Given the description of an element on the screen output the (x, y) to click on. 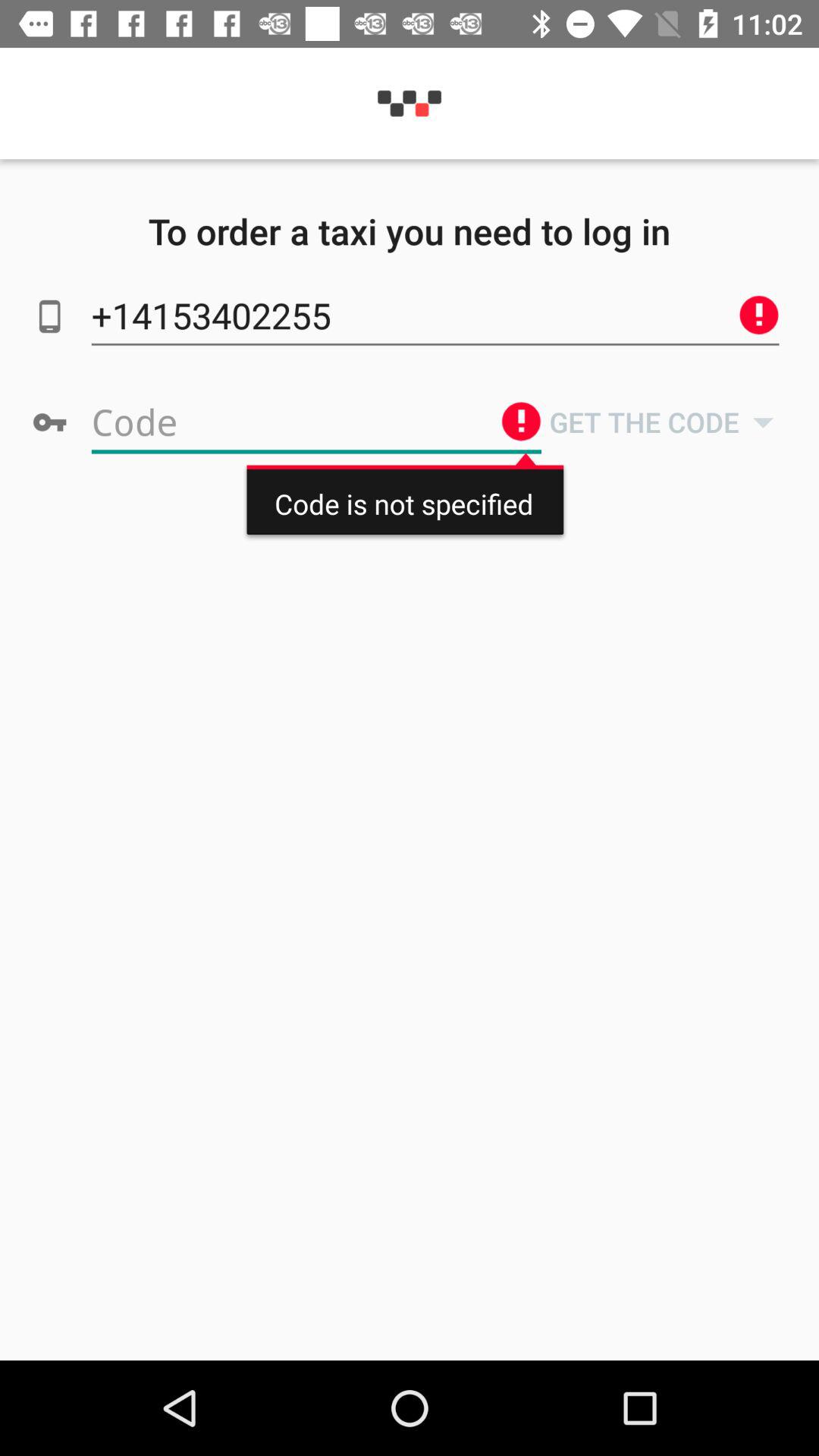
enter code (316, 421)
